Given the description of an element on the screen output the (x, y) to click on. 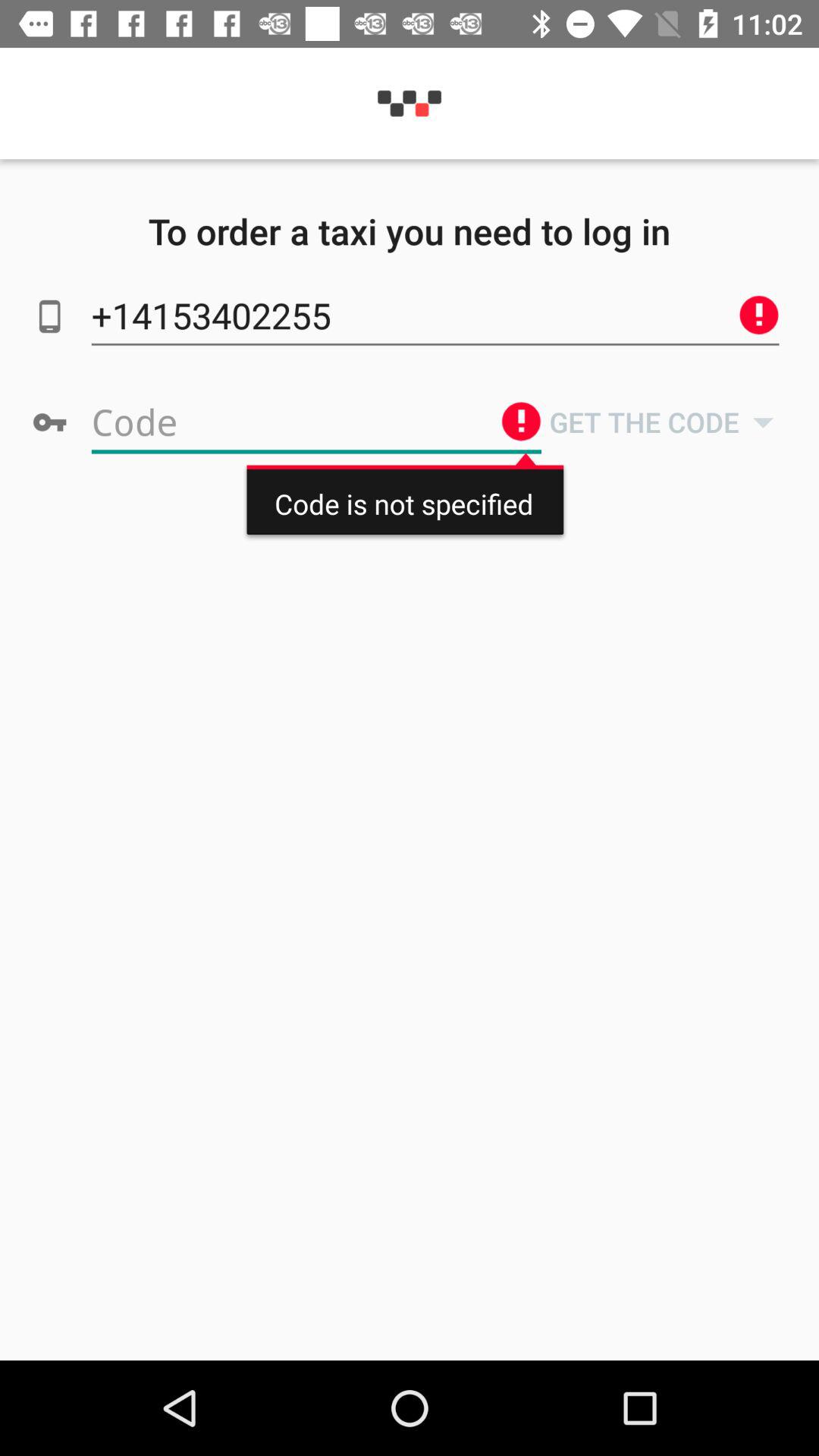
enter code (316, 421)
